Given the description of an element on the screen output the (x, y) to click on. 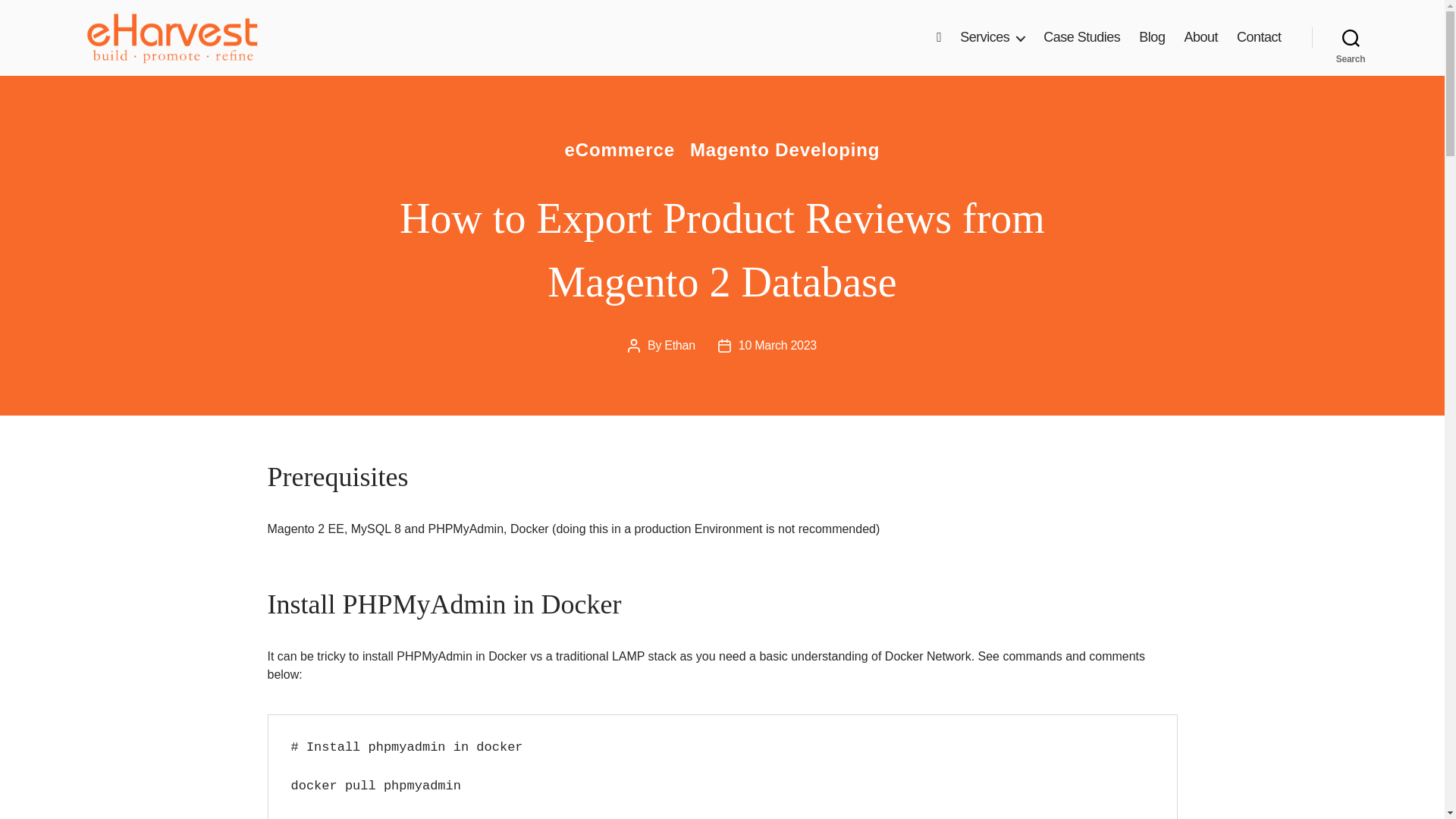
Ethan (678, 345)
eCommerce (619, 149)
Blog (1151, 37)
Search (1350, 37)
Case Studies (1081, 37)
Contact (1258, 37)
About (1200, 37)
Magento Developing (785, 149)
10 March 2023 (777, 345)
Services (992, 37)
